Given the description of an element on the screen output the (x, y) to click on. 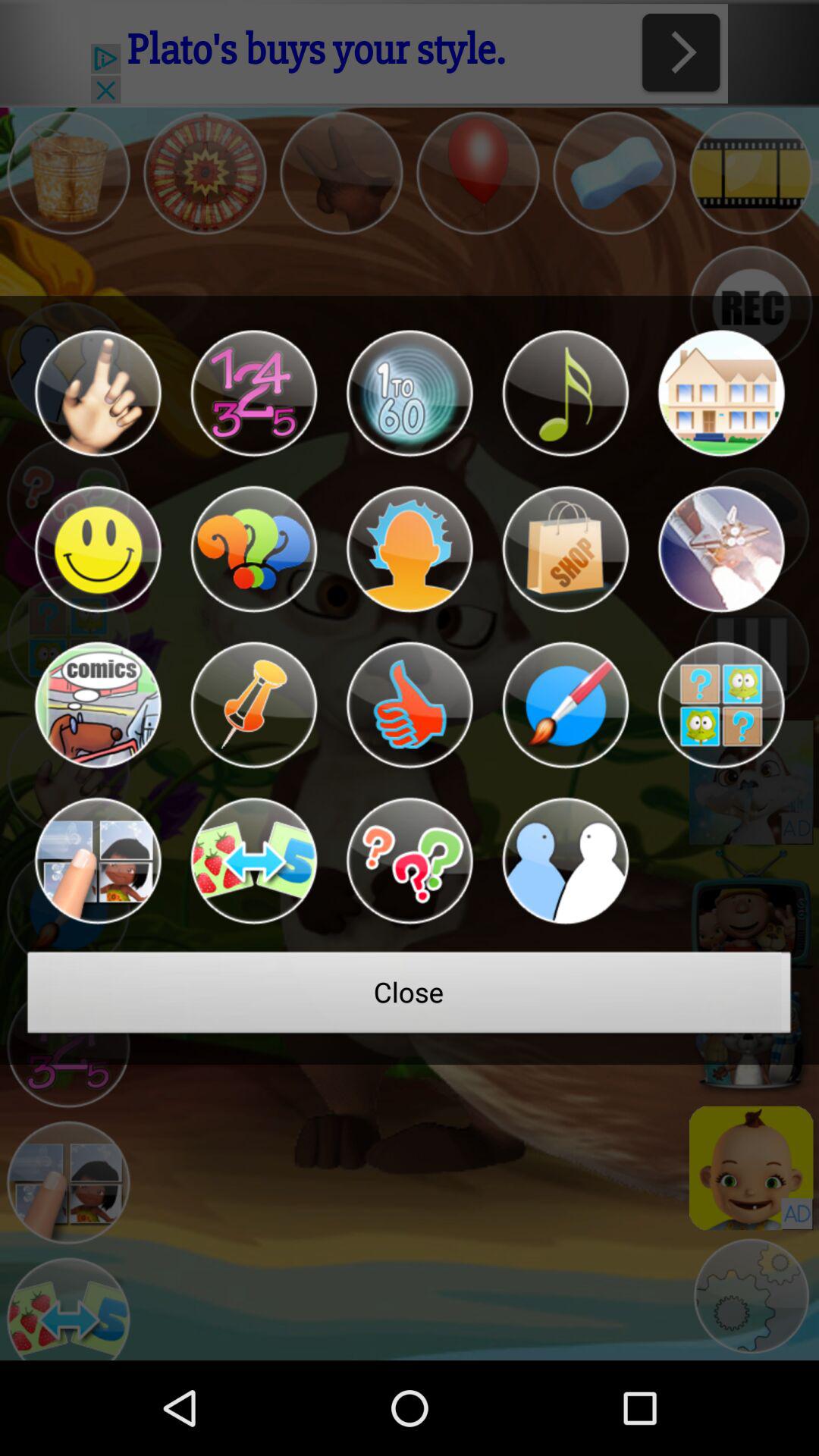
toggle a learning script (97, 549)
